Given the description of an element on the screen output the (x, y) to click on. 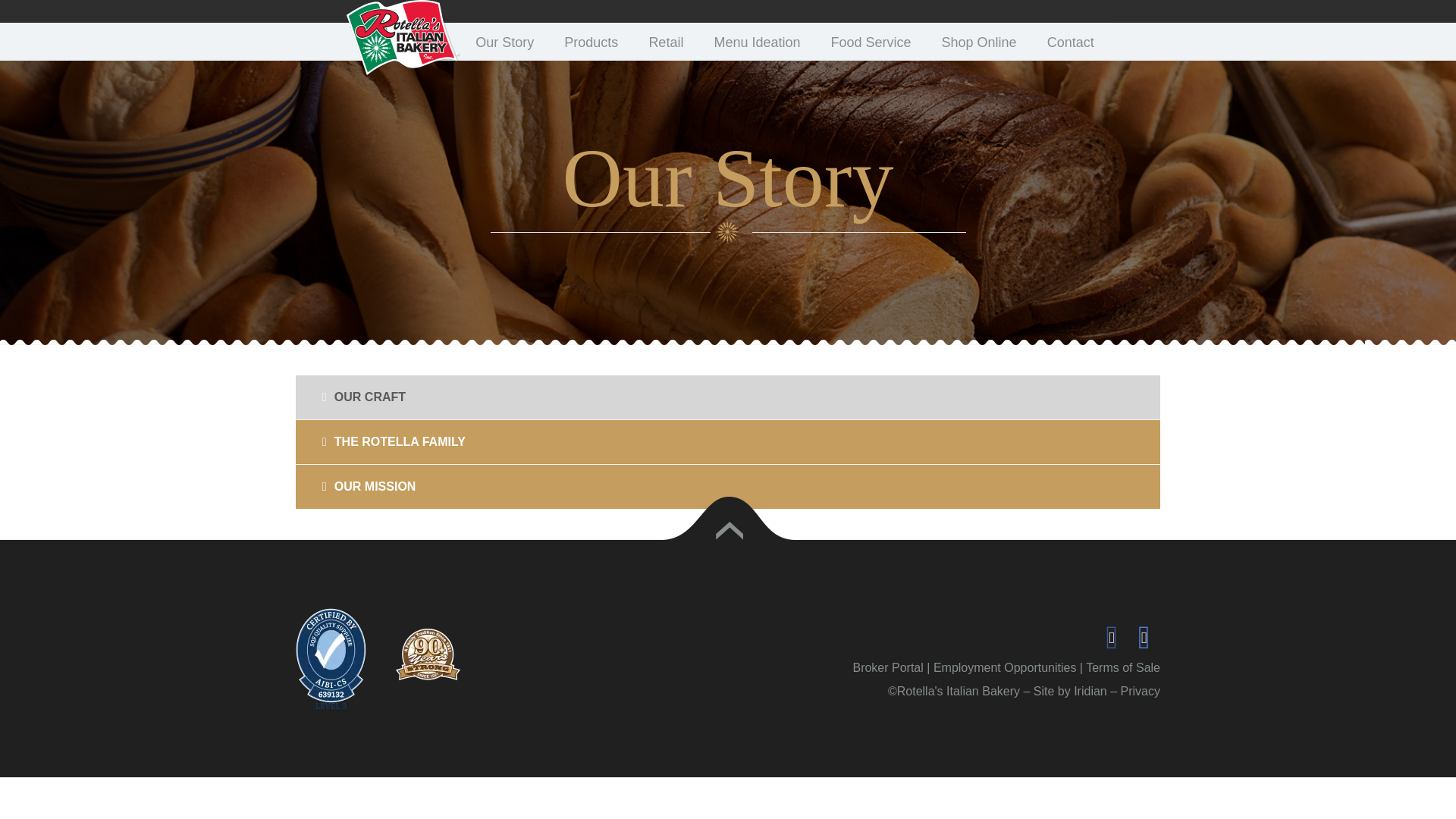
Our Story (504, 41)
Shop Online (979, 41)
Food Service (870, 41)
Products (590, 41)
Retail (665, 41)
Menu Ideation (756, 41)
